Given the description of an element on the screen output the (x, y) to click on. 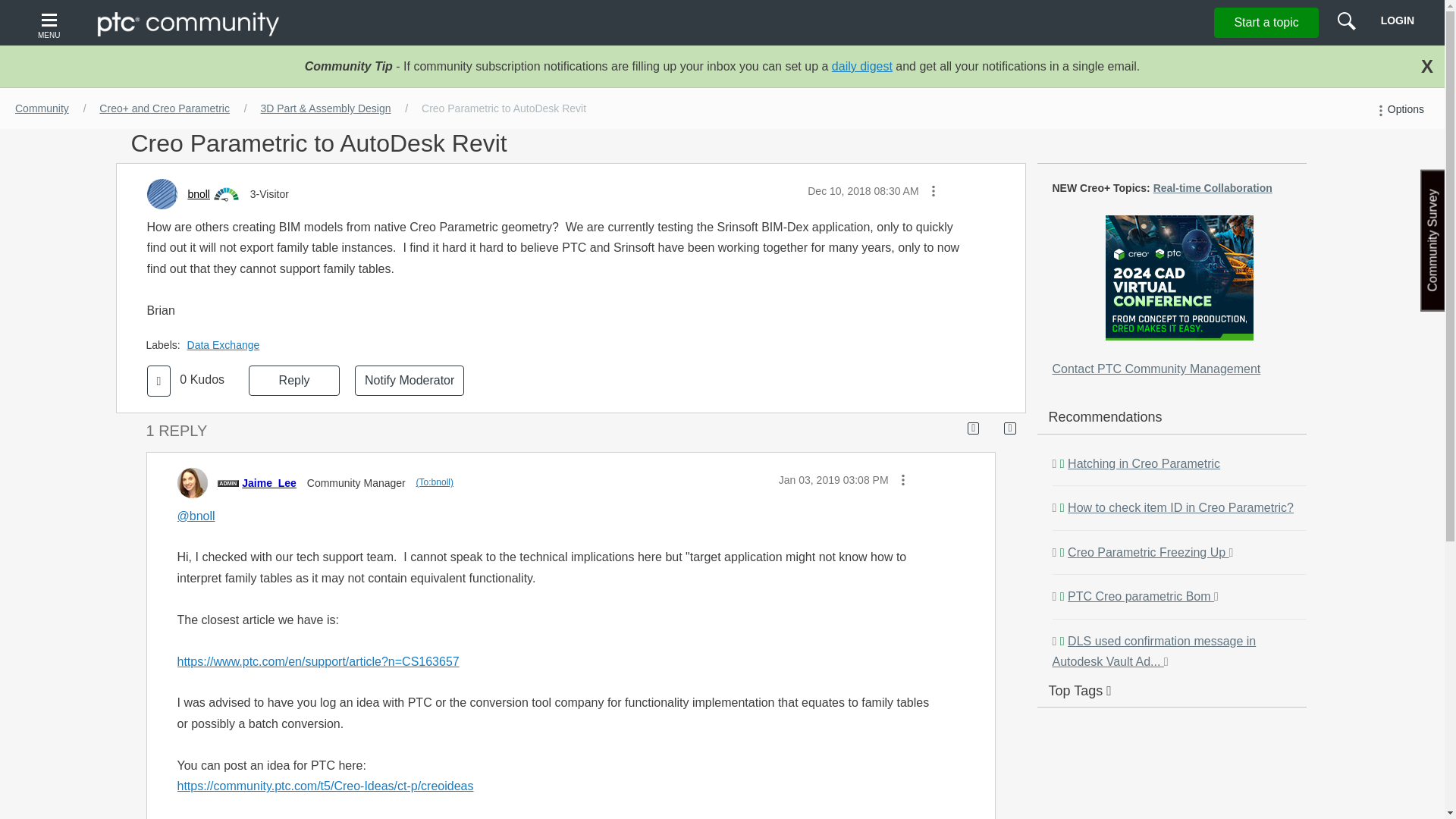
Options (1398, 109)
daily digest (861, 65)
Start a topic (1265, 22)
Community (42, 108)
MENU (50, 22)
LOGIN (1396, 20)
